Given the description of an element on the screen output the (x, y) to click on. 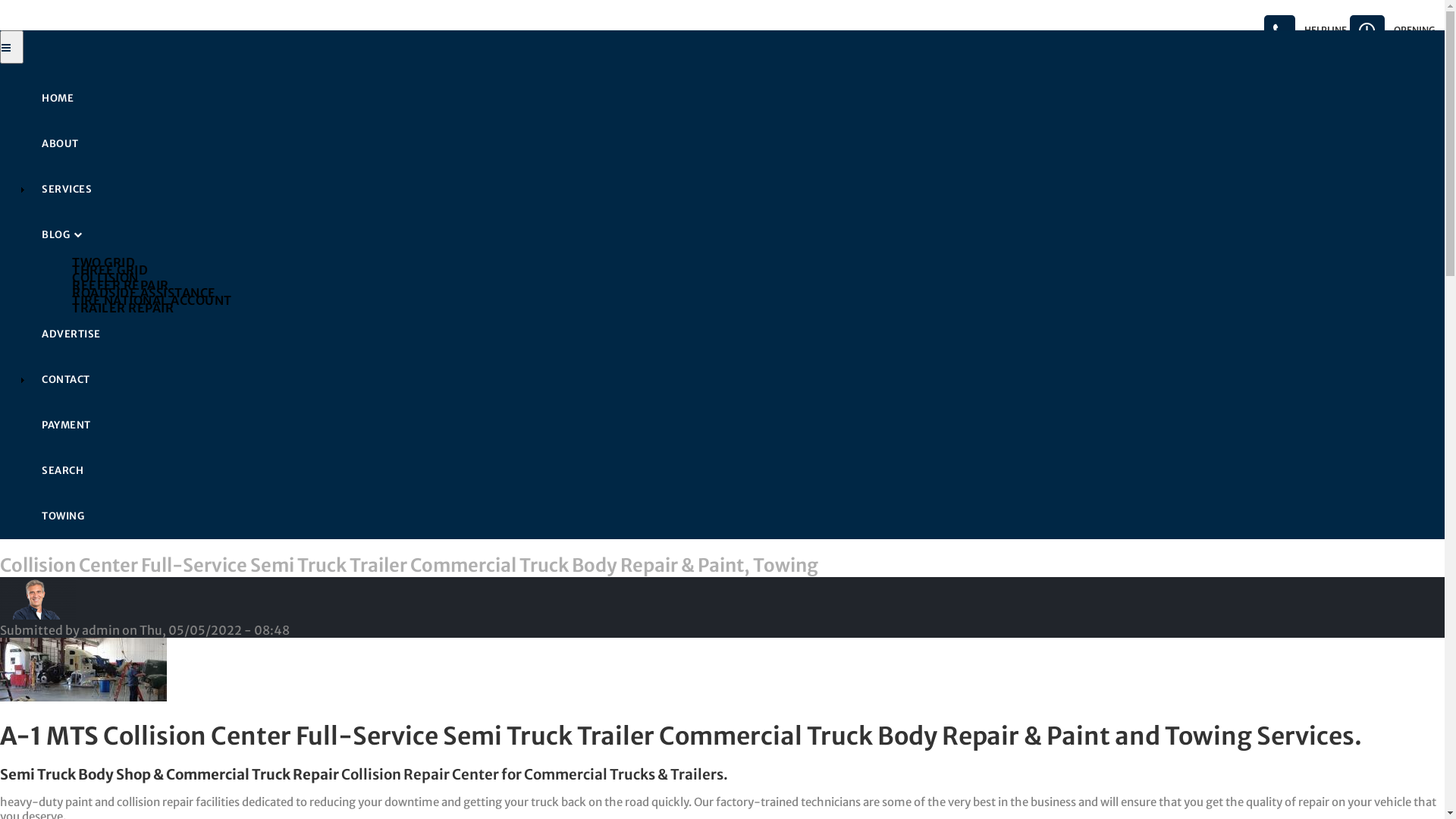
PAYMENT Element type: text (737, 424)
COLLISION Element type: text (752, 276)
TRAILER REPAIR Element type: text (752, 306)
ADVERTISE Element type: text (737, 333)
BLOG Element type: text (737, 234)
Skip to main content Element type: text (0, 0)
REEFER REPAIR Element type: text (752, 284)
THREE GRID Element type: text (752, 269)
TOWING Element type: text (737, 515)
CONTACT Element type: text (737, 378)
SERVICES Element type: text (737, 189)
ABOUT Element type: text (737, 143)
HOME Element type: text (737, 98)
ROADSIDE ASSISTANCE Element type: text (752, 291)
SEARCH Element type: text (737, 469)
TWO GRID Element type: text (752, 261)
TIRE NATIONAL ACCOUNT Element type: text (752, 299)
